Given the description of an element on the screen output the (x, y) to click on. 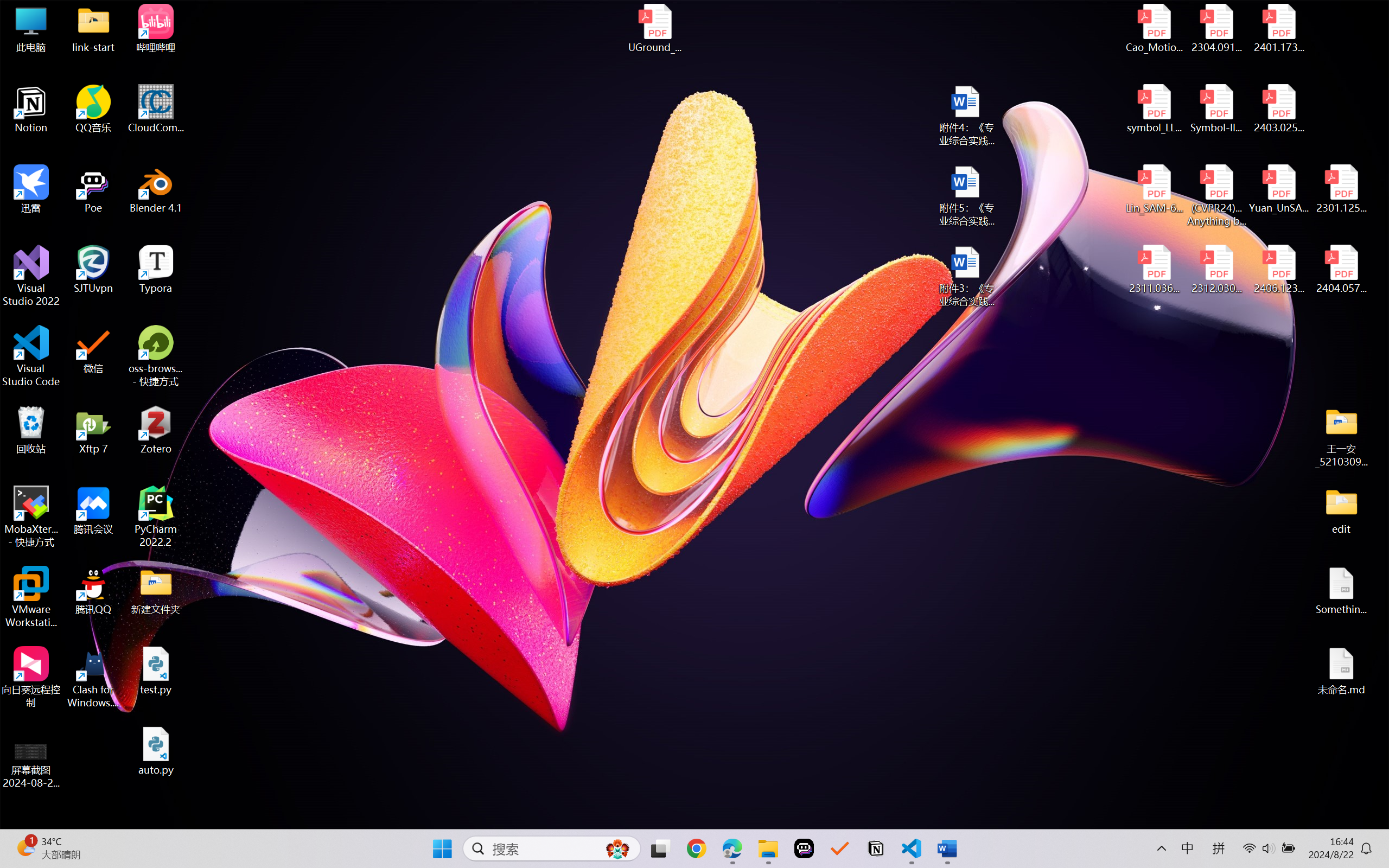
test.py (156, 670)
Xftp 7 (93, 430)
2304.09121v3.pdf (1216, 28)
2311.03658v2.pdf (1154, 269)
2401.17399v1.pdf (1278, 28)
Visual Studio 2022 (31, 276)
